Given the description of an element on the screen output the (x, y) to click on. 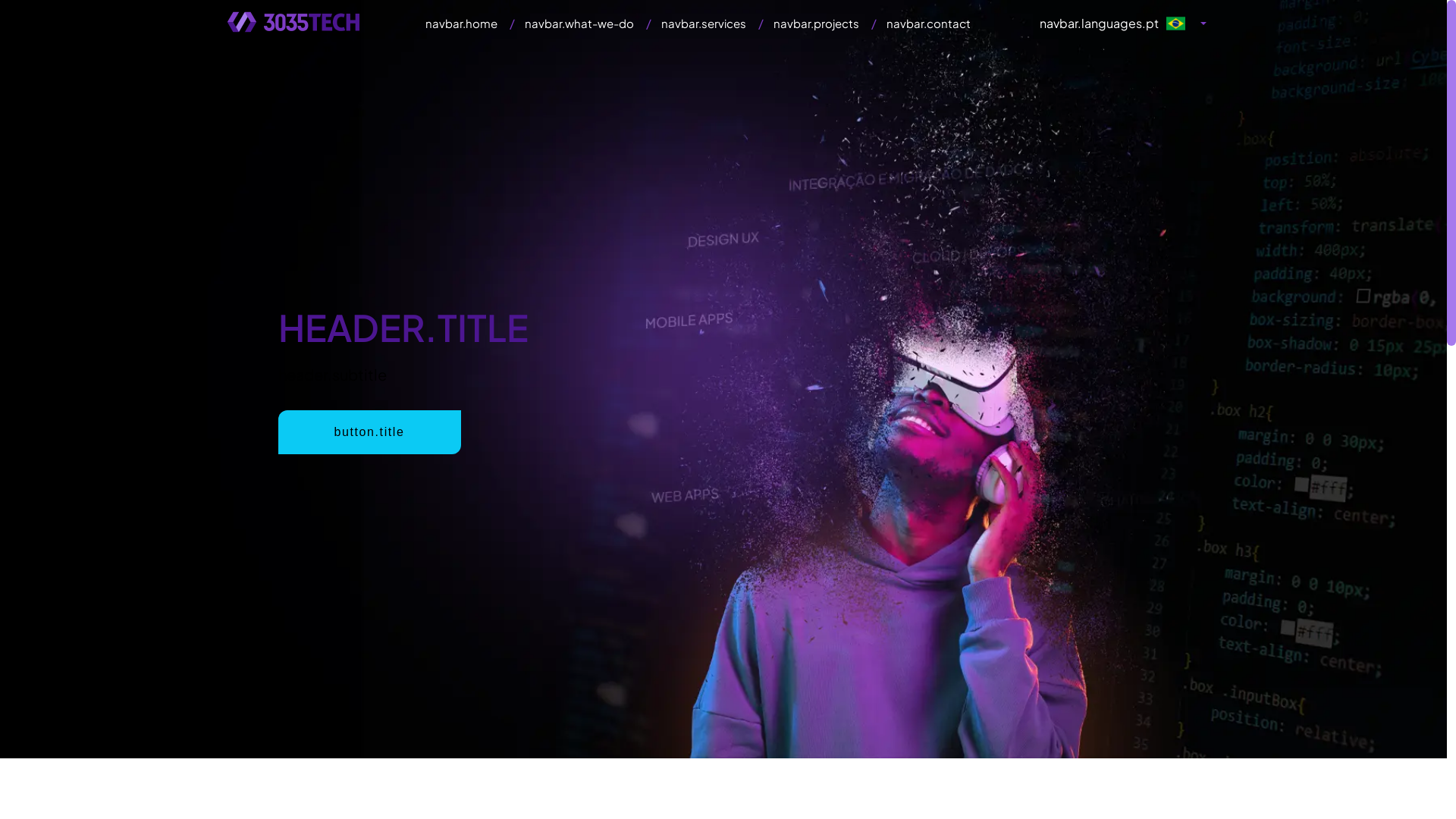
navbar.contact Element type: text (927, 22)
navbar.projects Element type: text (816, 22)
button.title Element type: text (368, 432)
navbar.services Element type: text (703, 22)
button.title Element type: text (368, 432)
navbar.home Element type: text (460, 22)
navbar.what-we-do Element type: text (578, 22)
